Given the description of an element on the screen output the (x, y) to click on. 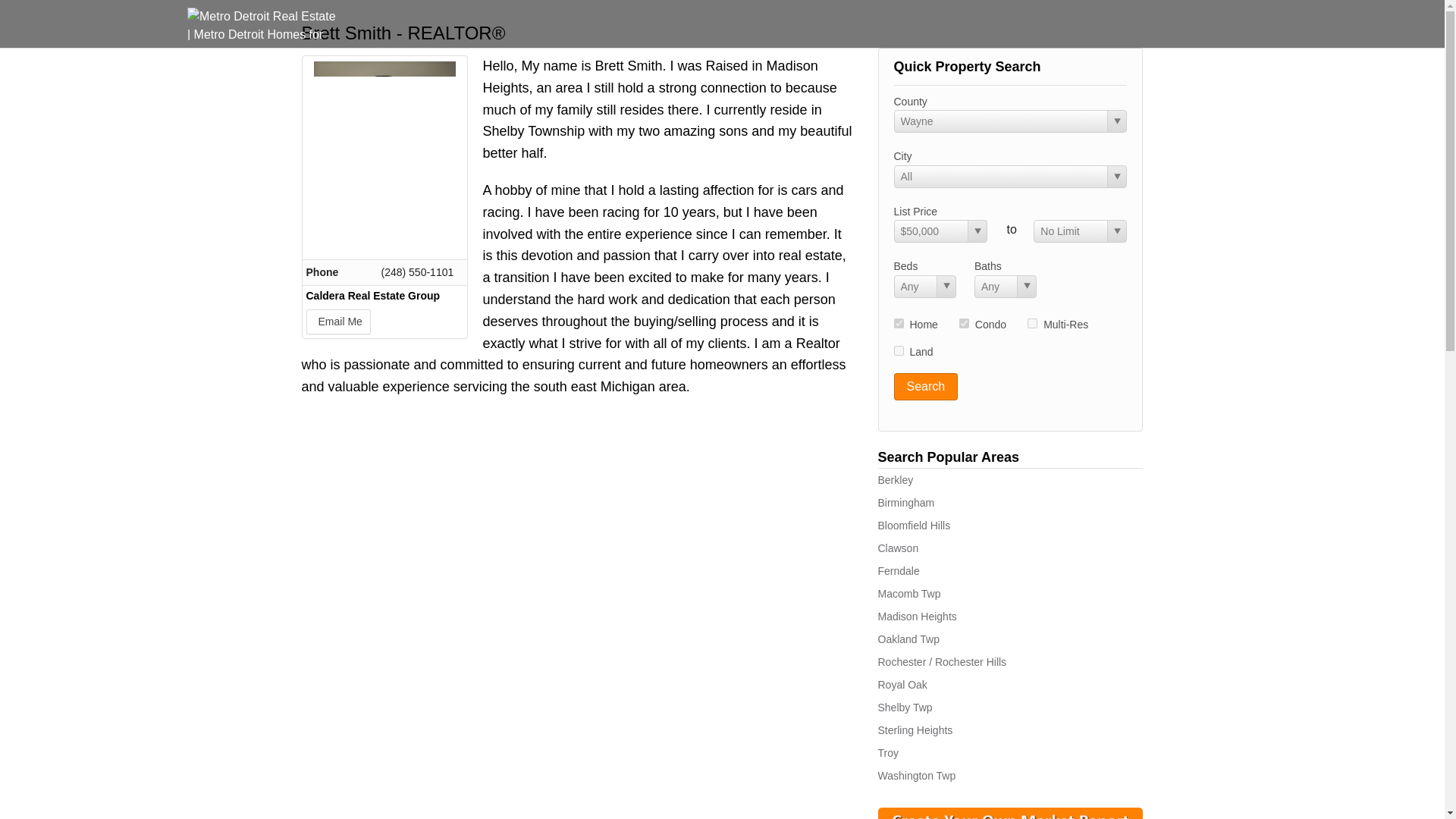
Oakland Twp (908, 639)
Berkley (895, 480)
Ferndale (898, 571)
Metro Detroit Real Estate Market Report (1009, 816)
Royal Oak (902, 684)
Macomb Twp (908, 593)
Madison Heights (916, 616)
Washington Twp (916, 775)
Bloomfield Hills (913, 525)
Clawson (897, 548)
